Given the description of an element on the screen output the (x, y) to click on. 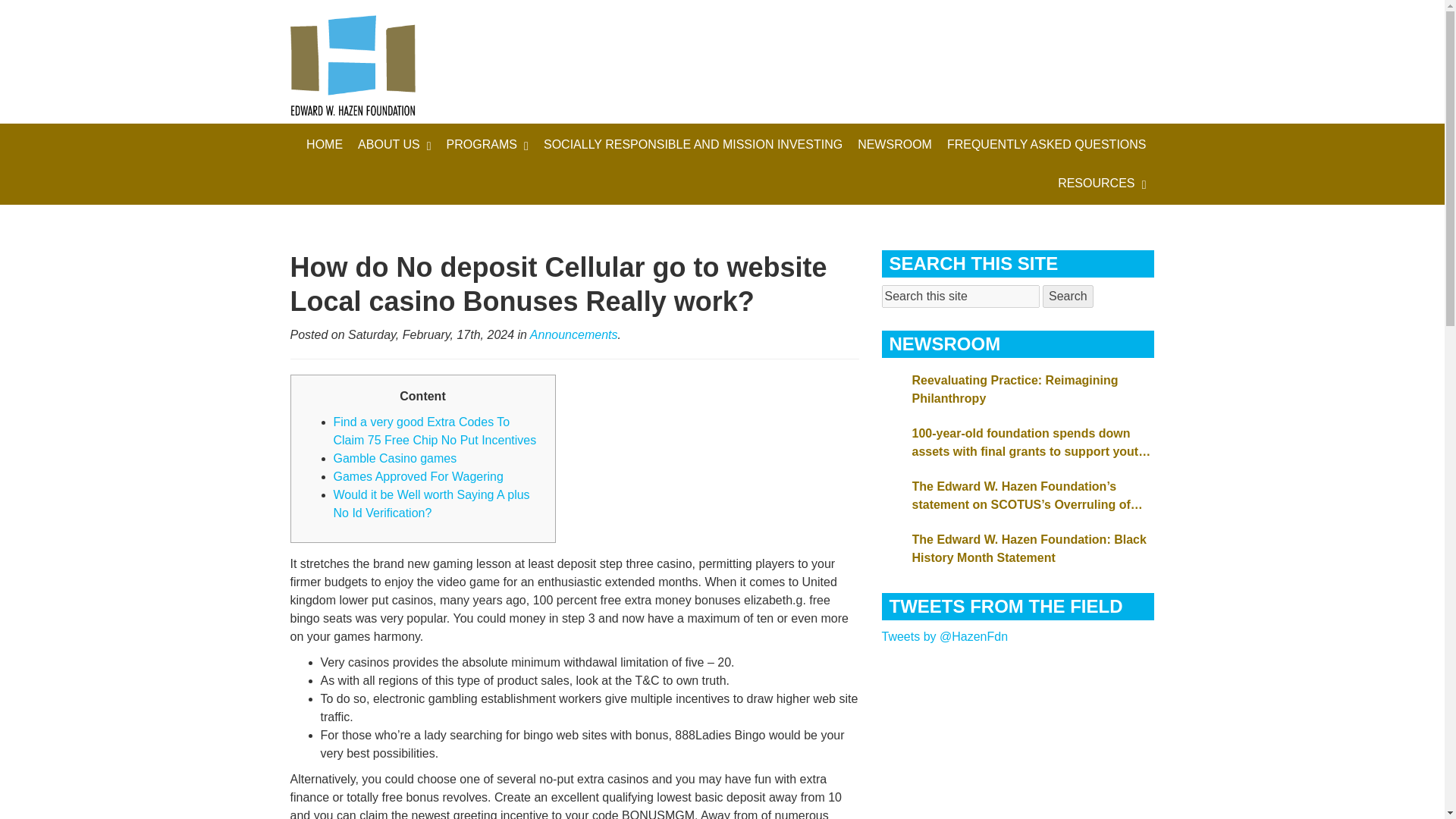
Search this site (959, 296)
FREQUENTLY ASKED QUESTIONS (1046, 144)
RESOURCES (1101, 183)
Gamble Casino games (395, 458)
dropdown-header (692, 144)
NEWSROOM (894, 144)
Search (1067, 296)
PROGRAMS (487, 144)
HOME (324, 144)
SOCIALLY RESPONSIBLE AND MISSION INVESTING (692, 144)
Reevaluating Practice: Reimagining Philanthropy (1032, 389)
Search this site (959, 296)
Would it be Well worth Saying A plus No Id Verification? (431, 503)
